Given the description of an element on the screen output the (x, y) to click on. 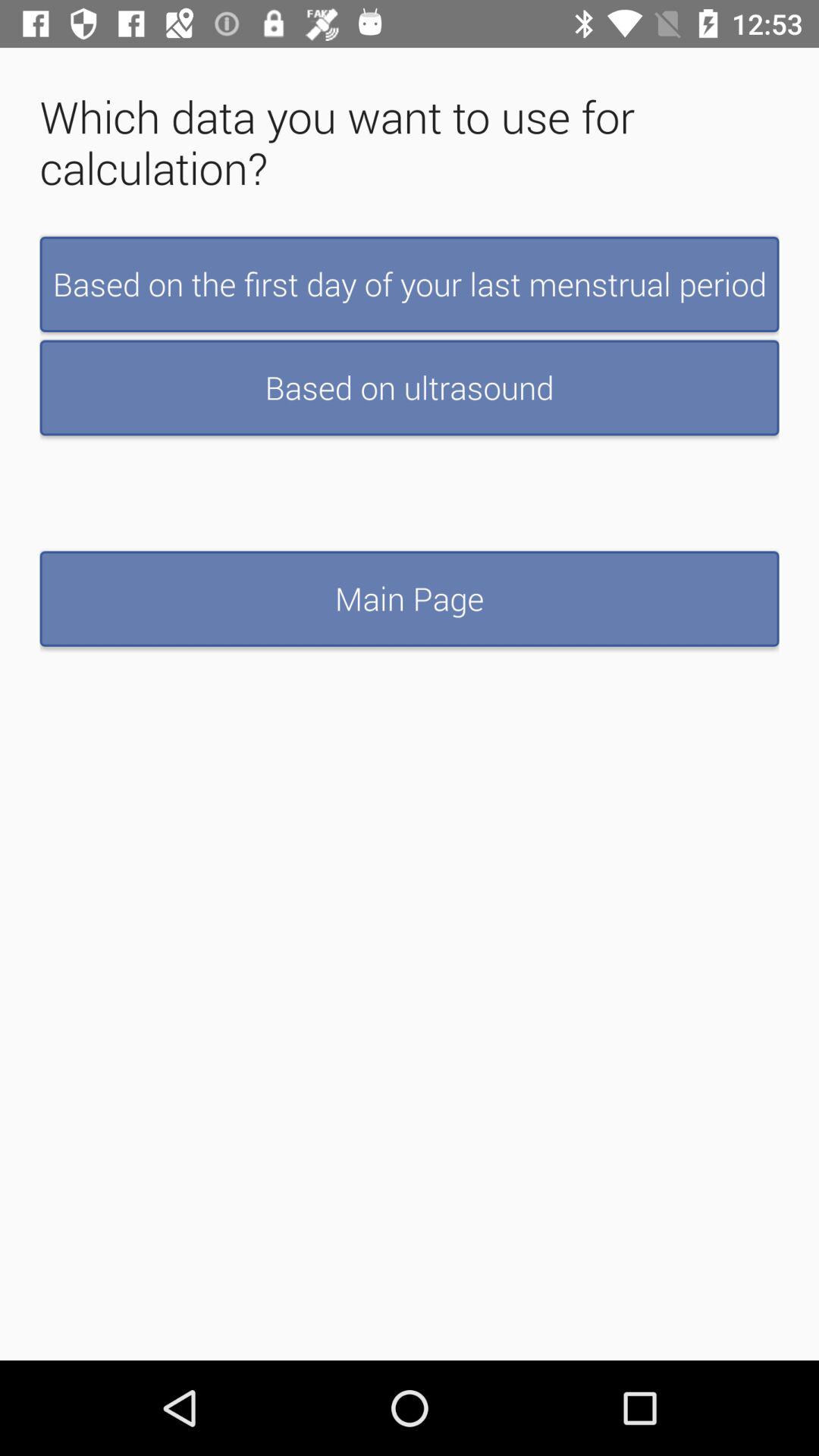
launch main page at the center (409, 598)
